Given the description of an element on the screen output the (x, y) to click on. 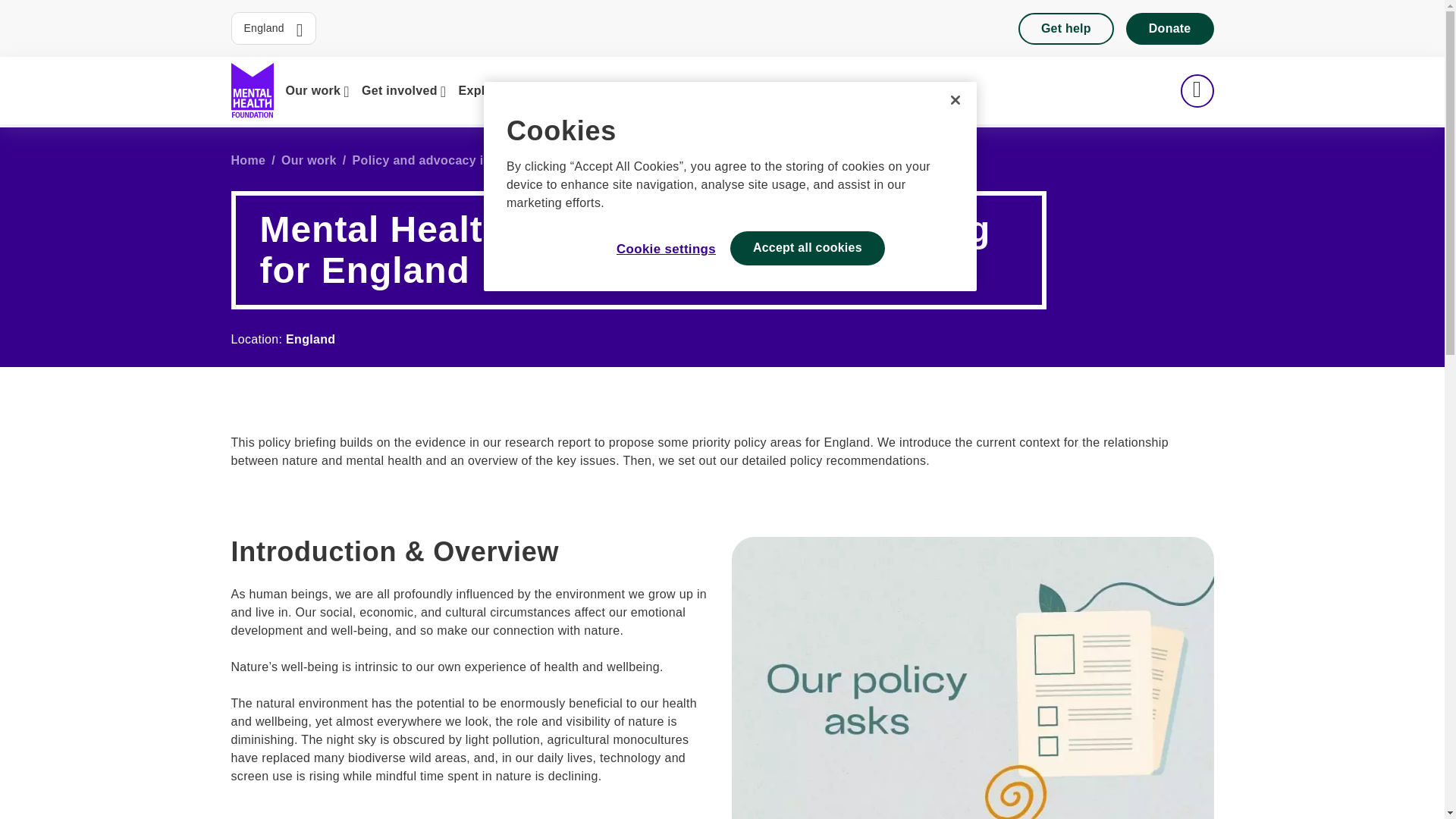
Get involved (403, 90)
Get help (1065, 28)
Our work (317, 90)
England (272, 28)
About us (641, 90)
Explore mental health (527, 90)
Donate (1169, 28)
